Given the description of an element on the screen output the (x, y) to click on. 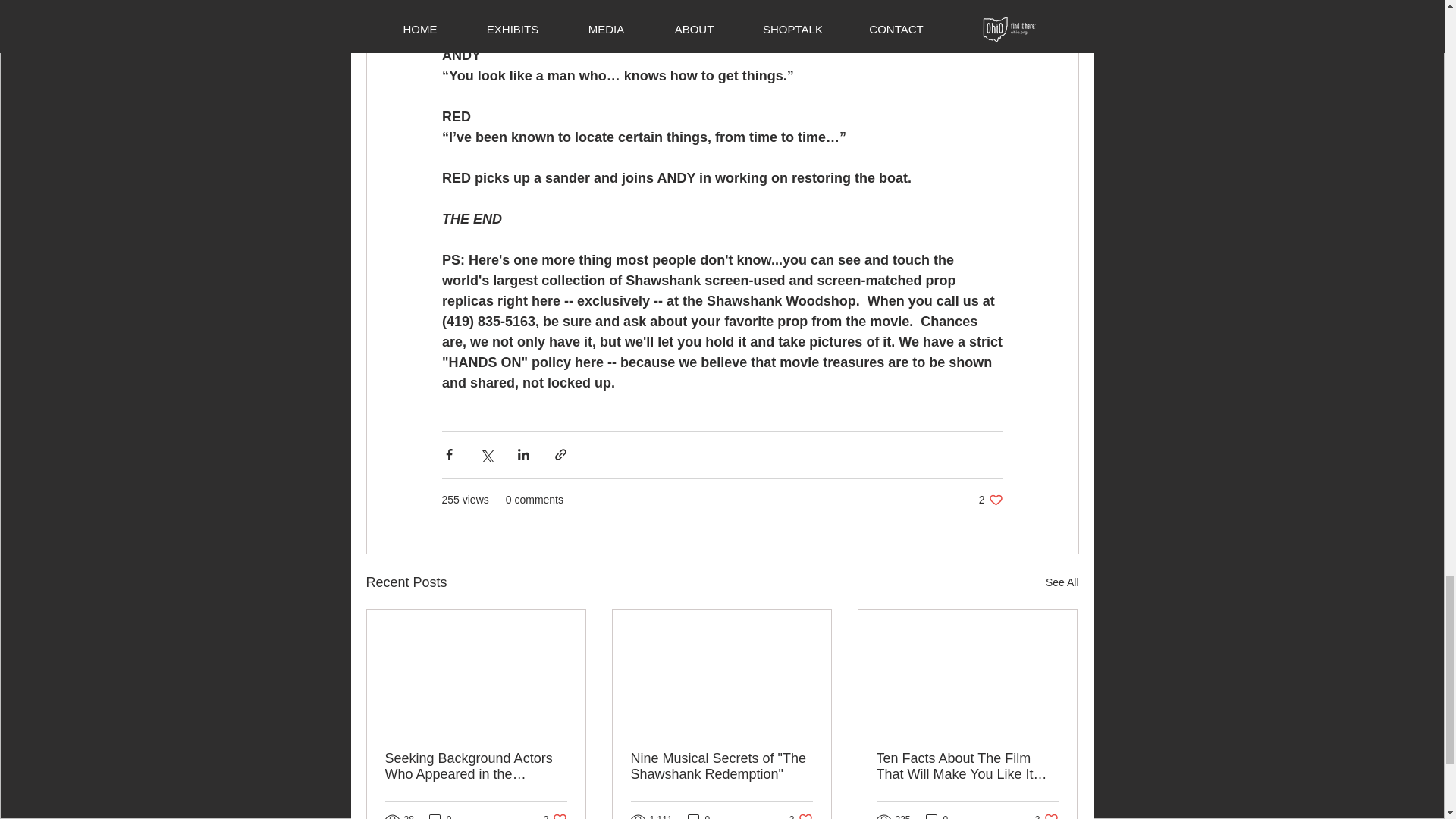
Nine Musical Secrets of "The Shawshank Redemption" (800, 815)
0 (721, 766)
See All (990, 499)
0 (440, 815)
0 (555, 815)
